Given the description of an element on the screen output the (x, y) to click on. 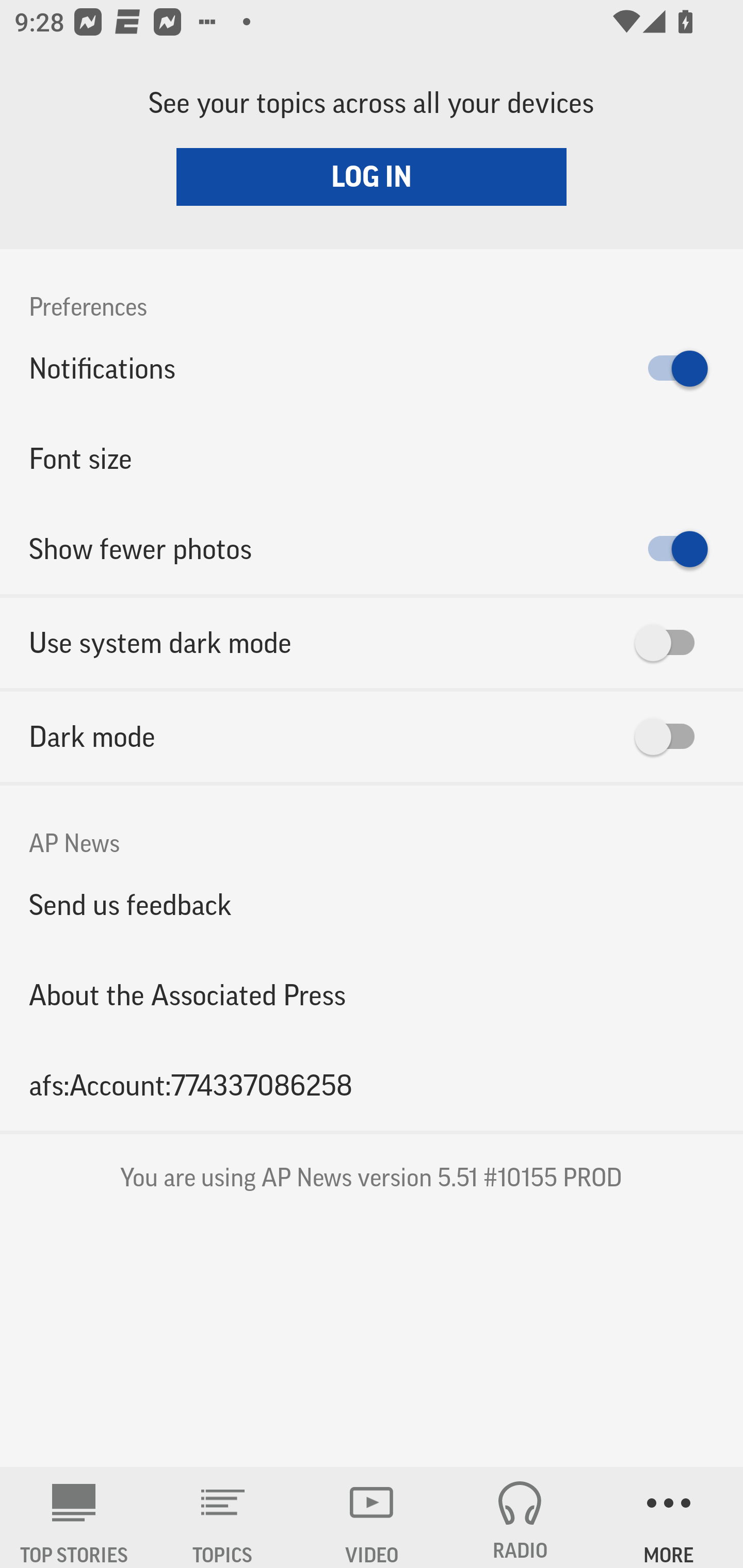
LOG IN (371, 176)
Notifications (371, 368)
Font size (371, 458)
Show fewer photos (371, 548)
Use system dark mode (371, 642)
Dark mode (371, 736)
Send us feedback (371, 904)
About the Associated Press (371, 994)
afs:Account:774337086258 (371, 1084)
AP News TOP STORIES (74, 1517)
TOPICS (222, 1517)
VIDEO (371, 1517)
RADIO (519, 1517)
MORE (668, 1517)
